Given the description of an element on the screen output the (x, y) to click on. 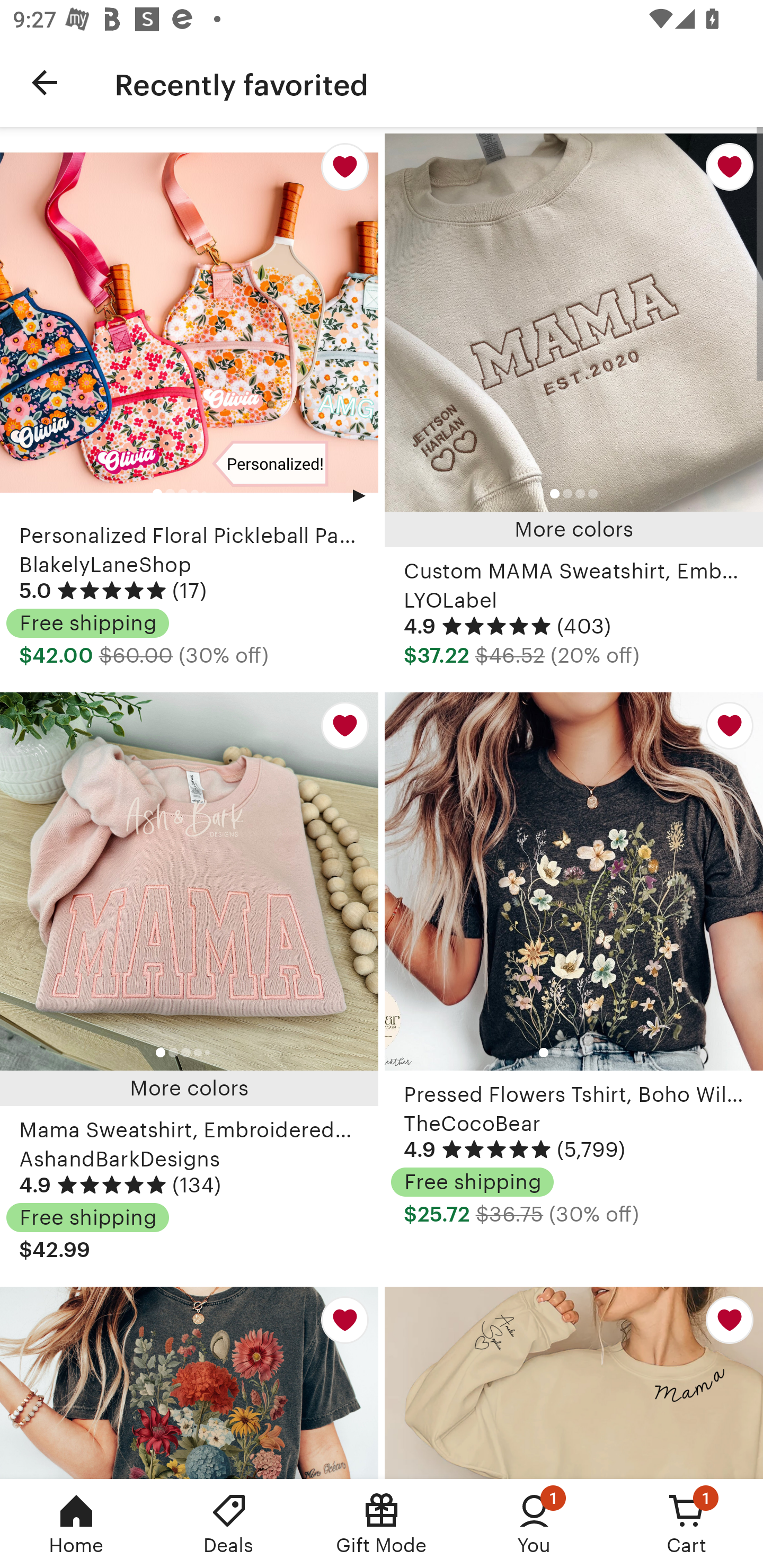
Navigate up (44, 82)
Deals (228, 1523)
Gift Mode (381, 1523)
You, 1 new notification You (533, 1523)
Cart, 1 new notification Cart (686, 1523)
